Given the description of an element on the screen output the (x, y) to click on. 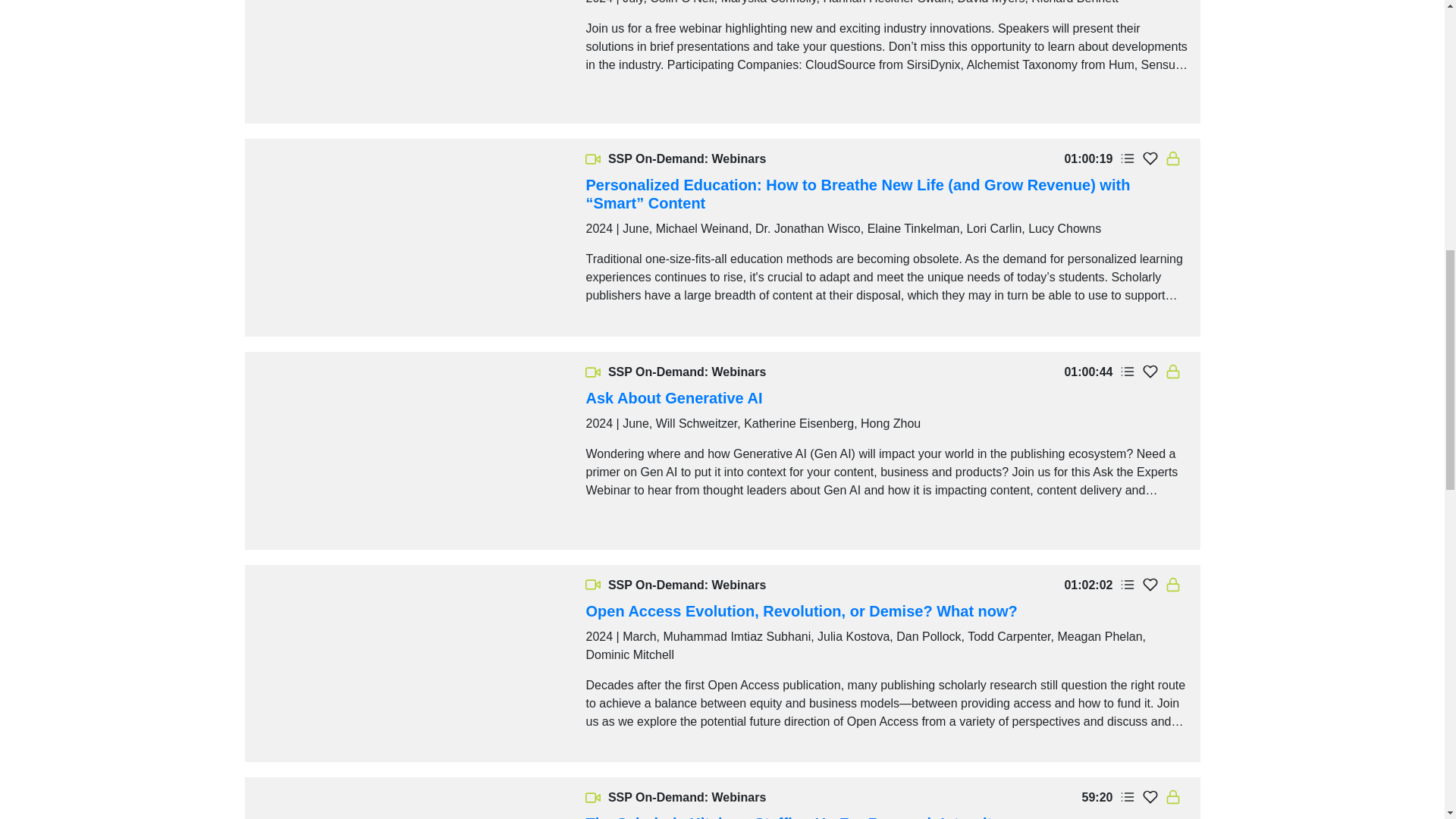
Open Access Evolution, Revolution, or Demise? What now? (800, 610)
Ask About Generative AI (673, 397)
